Given the description of an element on the screen output the (x, y) to click on. 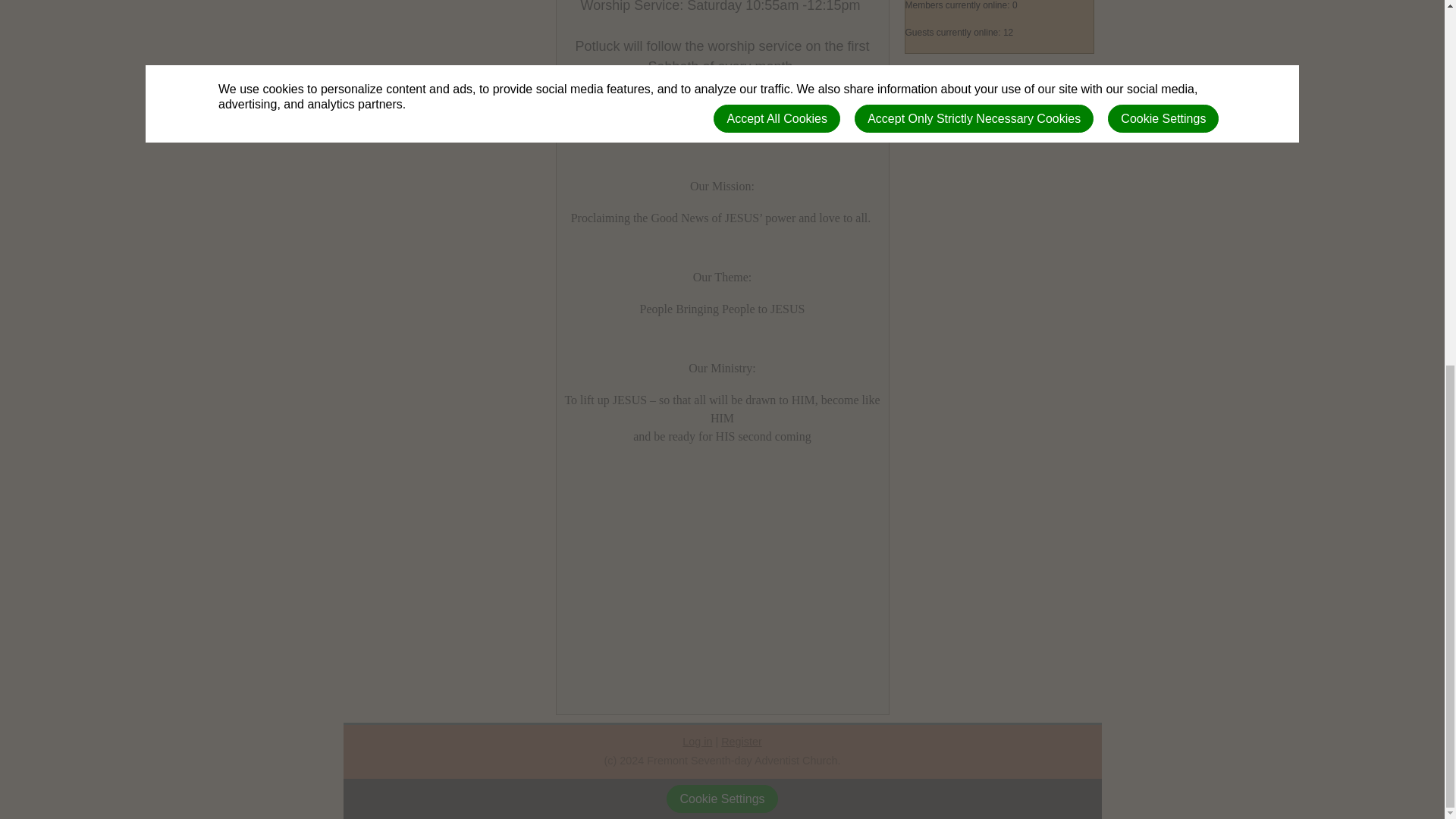
Log in (696, 741)
